Given the description of an element on the screen output the (x, y) to click on. 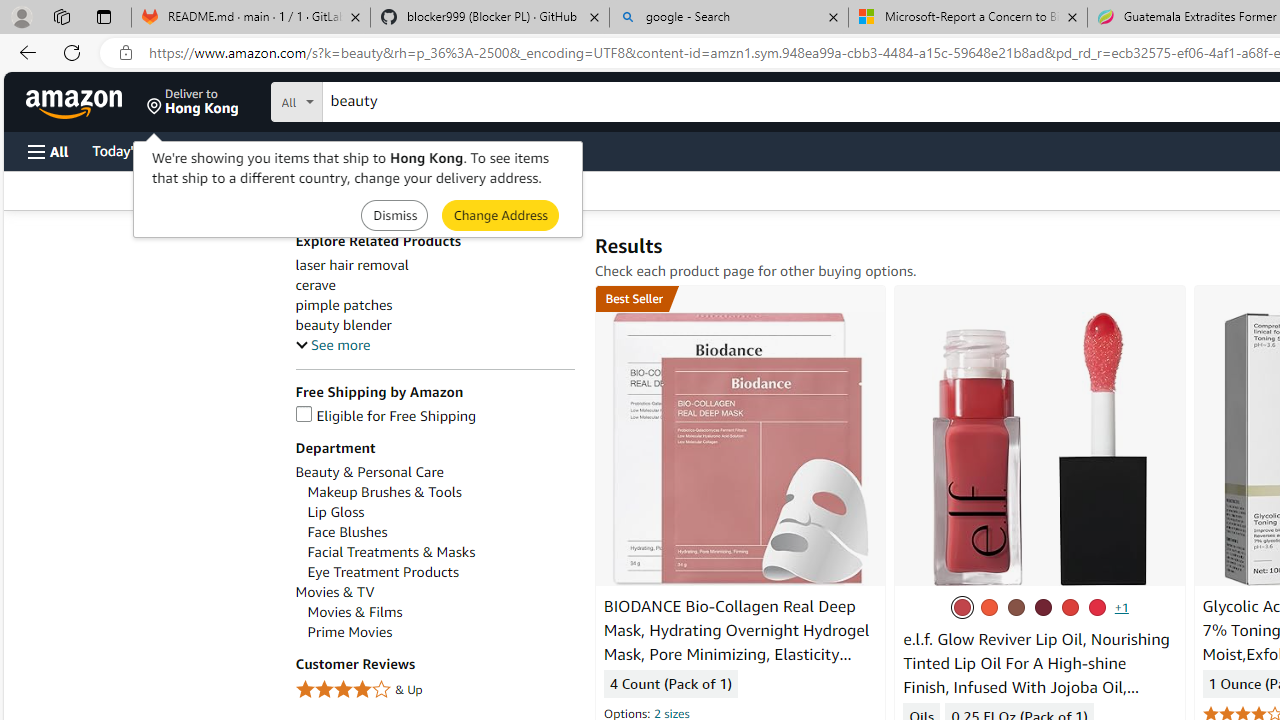
Eligible for Free Shipping (385, 416)
Lip Gloss (335, 512)
Prime Movies (349, 632)
Eye Treatment Products (440, 572)
Lip Gloss (440, 512)
Eligible for Free Shipping (434, 416)
laser hair removal (351, 265)
laser hair removal (434, 265)
Coral Fixation (989, 607)
Submit (499, 214)
